Given the description of an element on the screen output the (x, y) to click on. 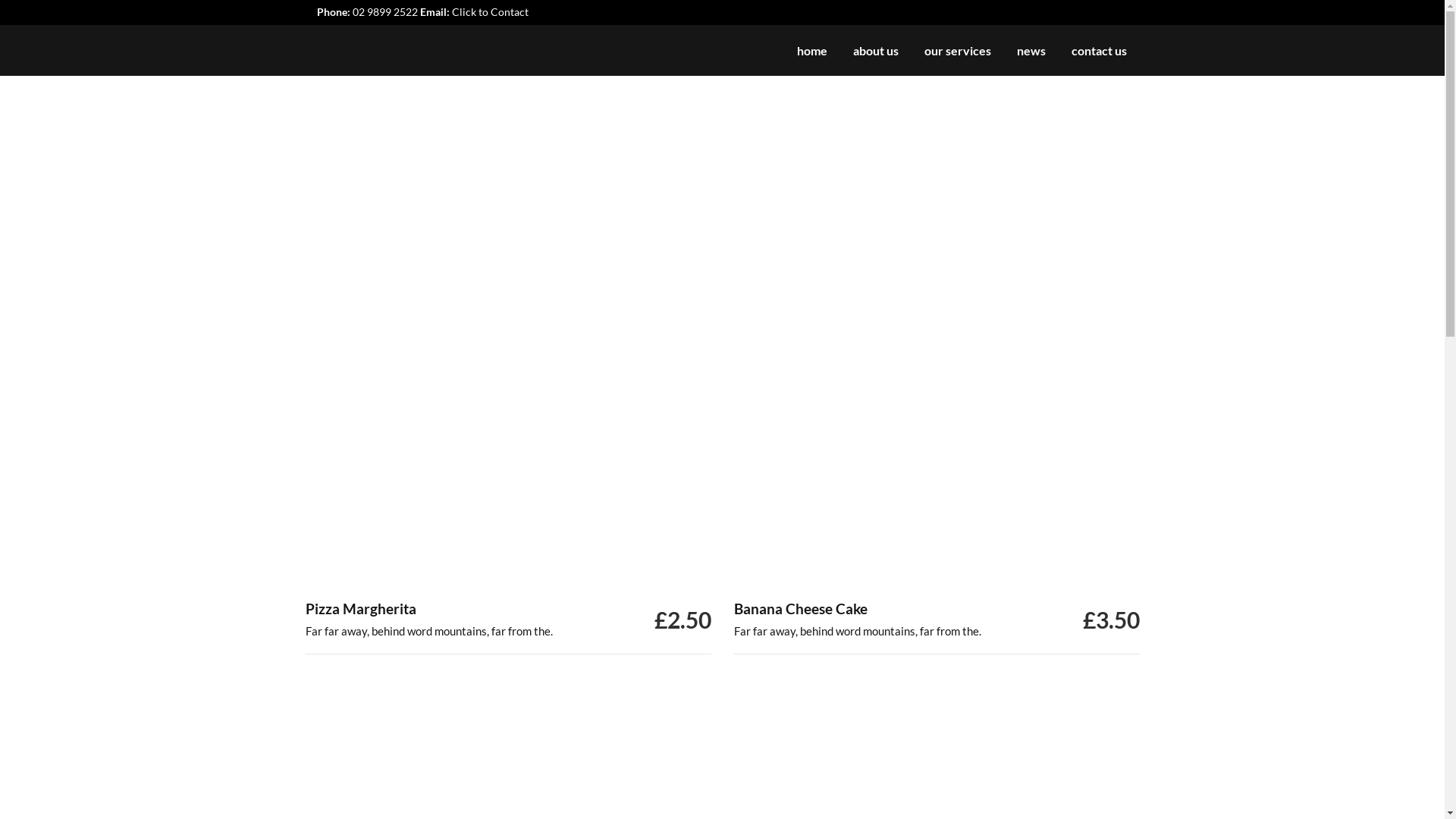
home Element type: text (812, 50)
contact us Element type: text (1098, 50)
02 9899 2522 Element type: text (384, 11)
Click to Contact Element type: text (489, 11)
our services Element type: text (957, 50)
news Element type: text (1031, 50)
about us Element type: text (875, 50)
